Given the description of an element on the screen output the (x, y) to click on. 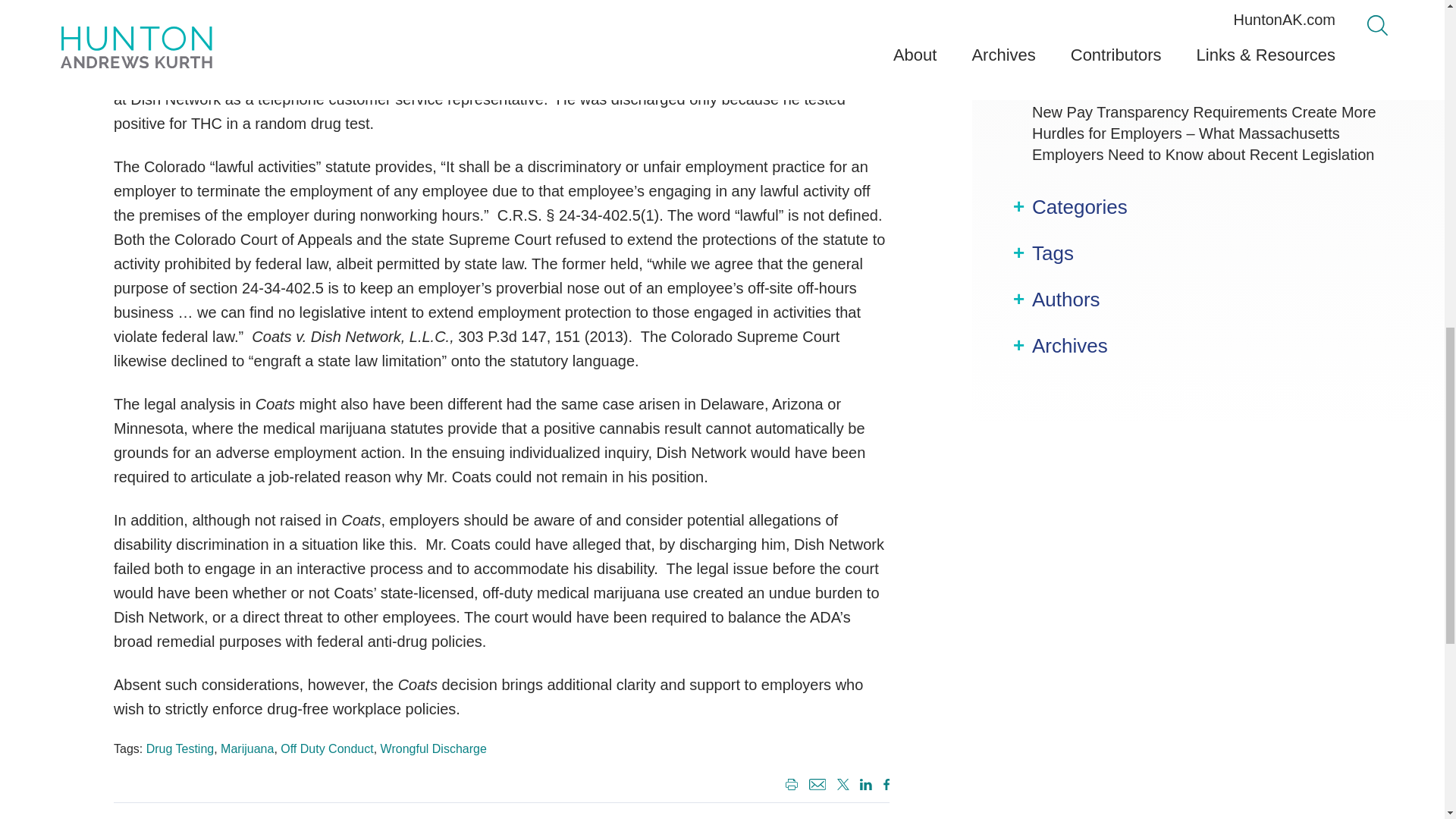
Marijuana (247, 748)
Linkedin (863, 785)
Off Duty Conduct (326, 748)
Email (815, 785)
OFCCP Releases New Expedited Conciliation Procedures (1186, 72)
Linkedin (866, 784)
Print (788, 785)
Facebook (882, 785)
Drug Testing (180, 748)
